Given the description of an element on the screen output the (x, y) to click on. 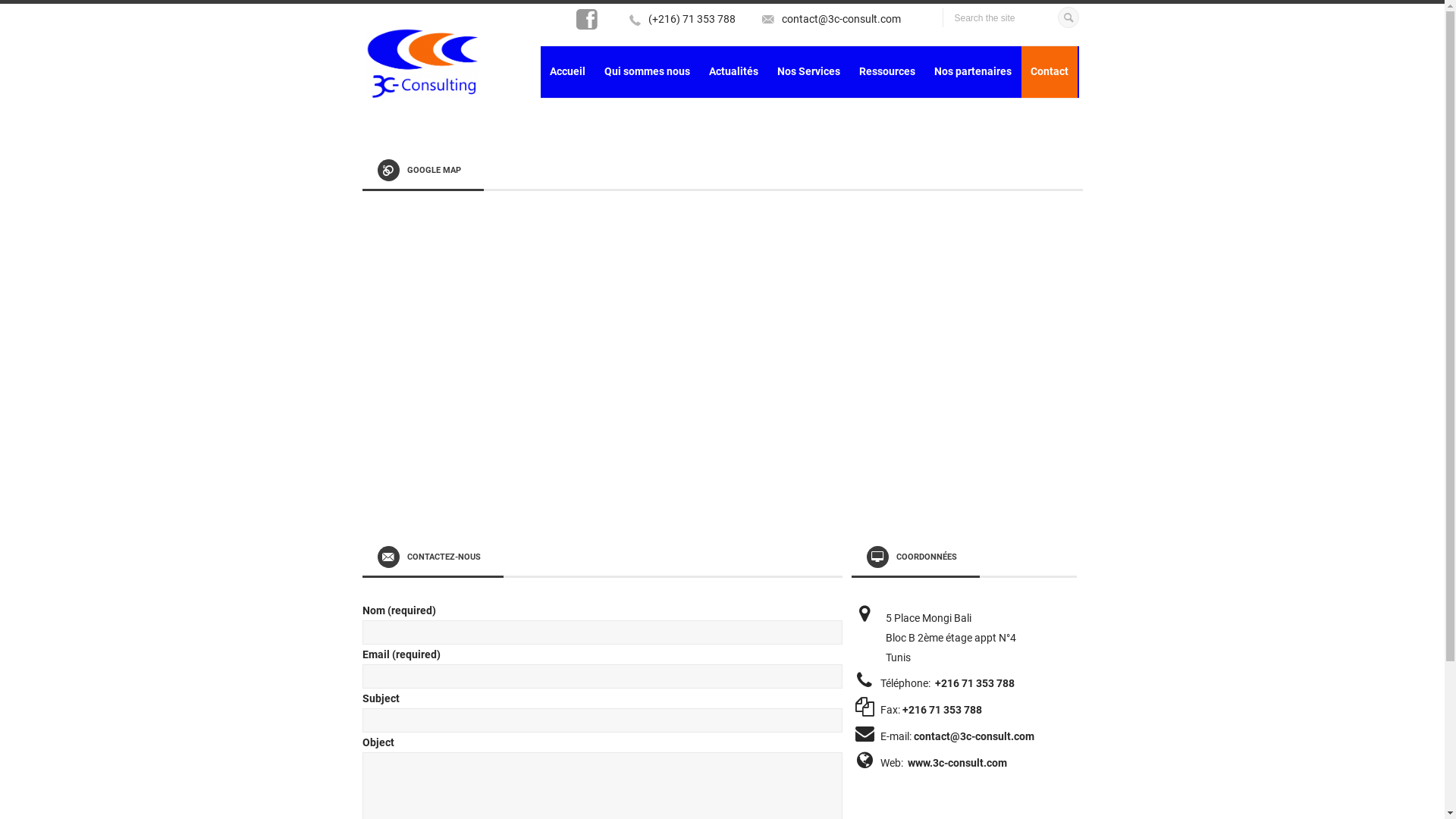
Nos Services Element type: text (807, 71)
contact@3c-consult.com Element type: text (840, 18)
Accueil Element type: text (566, 71)
contact@3c-consult.com Element type: text (973, 736)
Recherche Element type: text (1067, 14)
Ressources Element type: text (886, 71)
Contact Element type: text (1048, 71)
(+216) 71 353 788 Element type: text (690, 18)
www.3c-consult.com Element type: text (957, 762)
Nos partenaires Element type: text (972, 71)
Qui sommes nous Element type: text (646, 71)
